Given the description of an element on the screen output the (x, y) to click on. 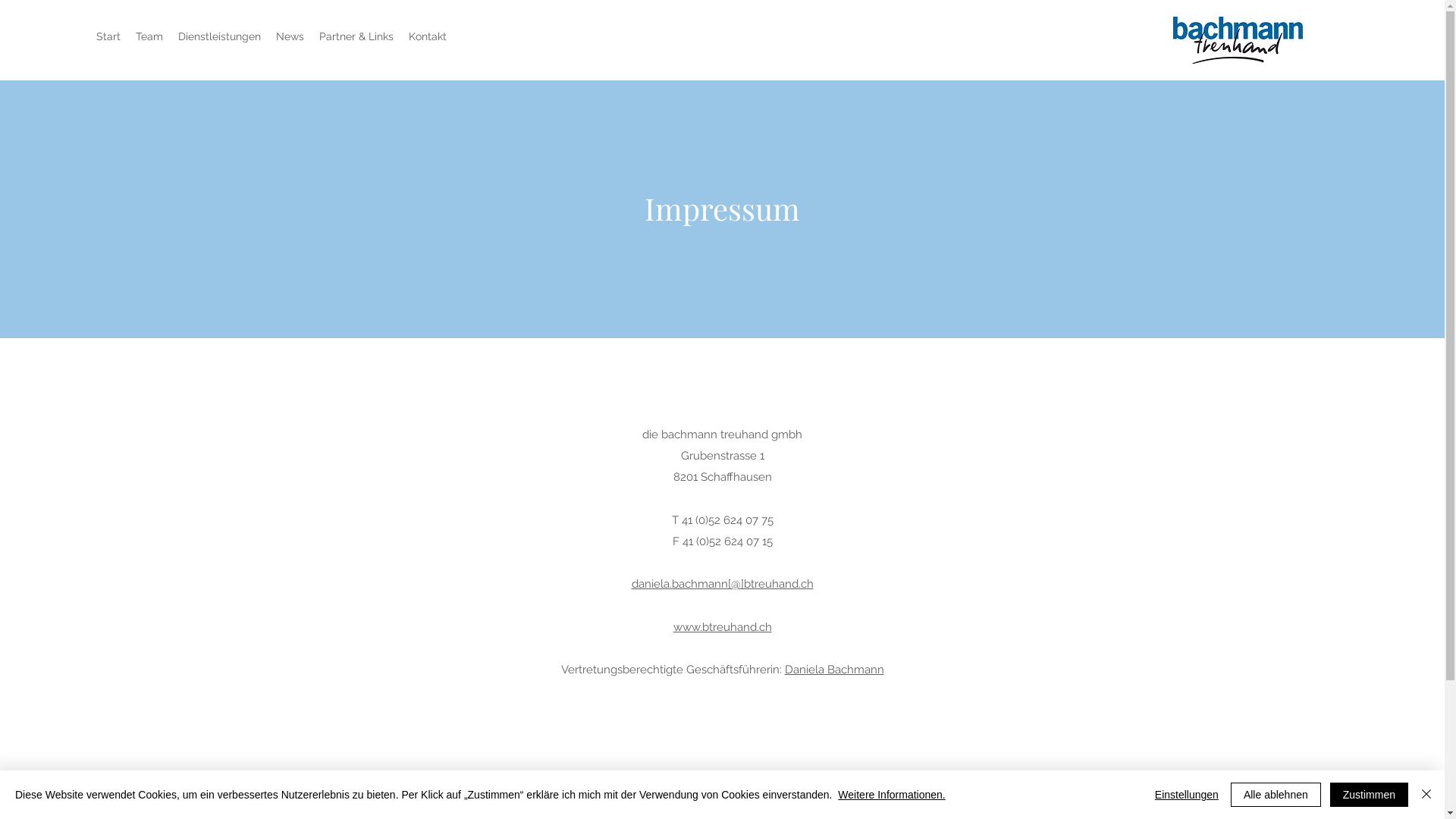
www.btreuhand.ch Element type: text (722, 626)
Alle ablehnen Element type: text (1275, 794)
Dienstleistungen Element type: text (219, 36)
Partner & Links Element type: text (356, 36)
Start Element type: text (108, 36)
Kontakt Element type: text (427, 36)
News Element type: text (289, 36)
Daniela Bachmann Element type: text (833, 669)
daniela.bachmann[@]btreuhand.ch Element type: text (721, 583)
Zustimmen Element type: text (1369, 794)
Weitere Informationen. Element type: text (890, 794)
Team Element type: text (149, 36)
